Given the description of an element on the screen output the (x, y) to click on. 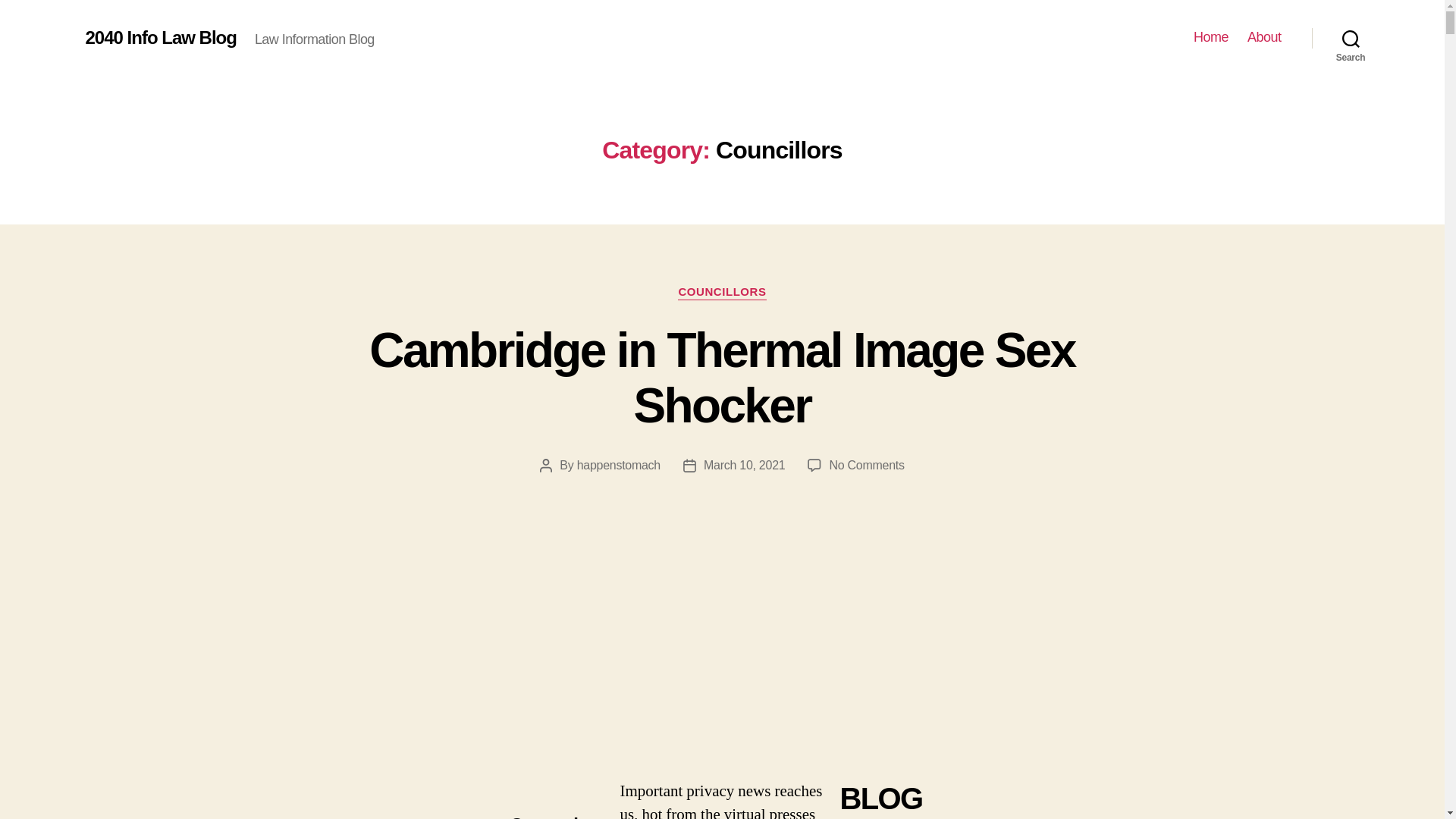
happenstomach Element type: text (618, 464)
Search Element type: text (1350, 37)
Cambridge in Thermal Image Sex Shocker Element type: text (721, 378)
2040 Info Law Blog Element type: text (159, 37)
COUNCILLORS Element type: text (721, 292)
No Comments Element type: text (865, 464)
March 10, 2021 Element type: text (743, 464)
About Element type: text (1264, 37)
Home Element type: text (1210, 37)
